Given the description of an element on the screen output the (x, y) to click on. 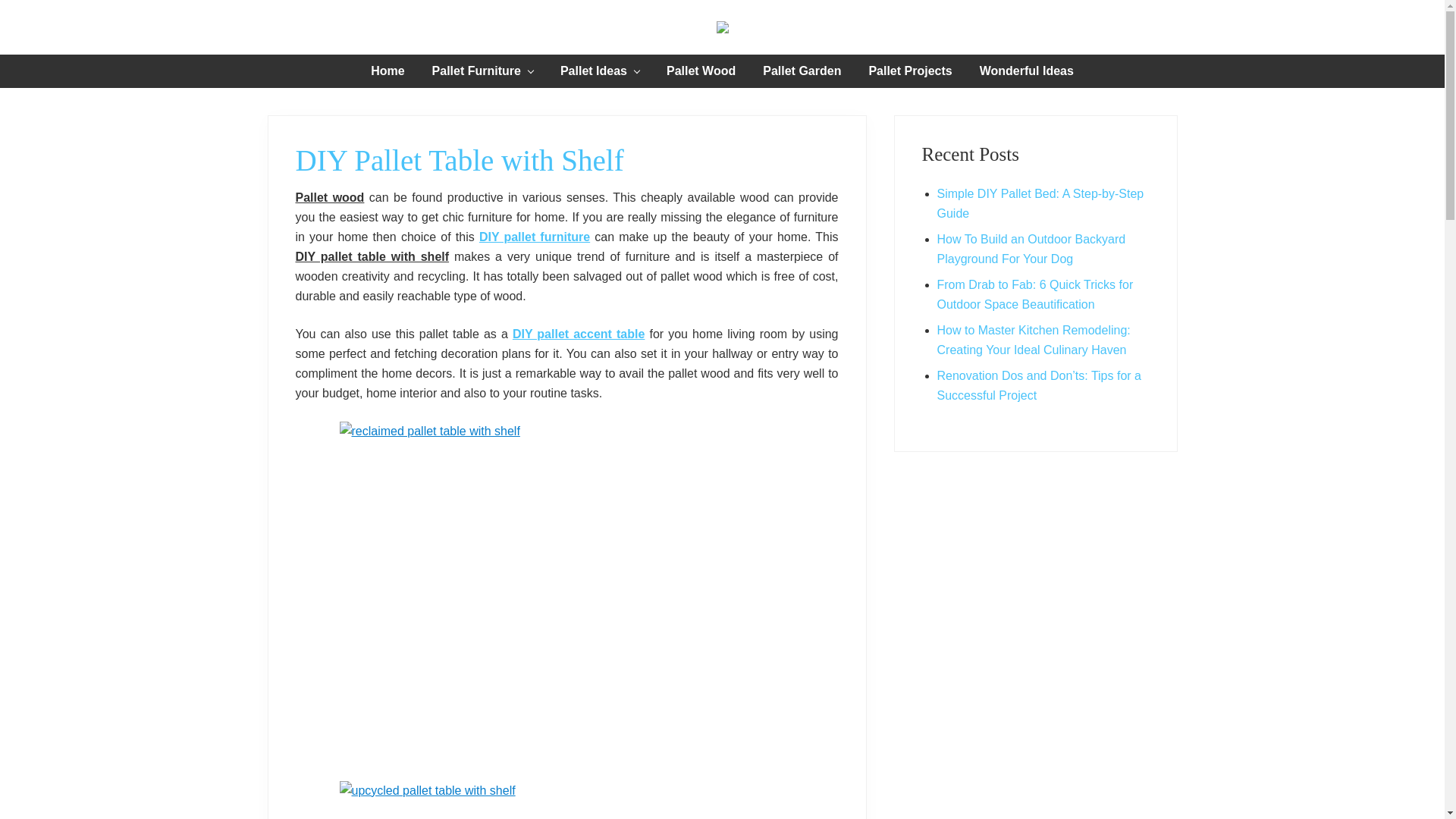
Pallet Furniture (483, 70)
Home (386, 70)
45 Pallet Projects DIY (534, 236)
Recycled Pallet Coffee Table with Glass Top (578, 333)
